Given the description of an element on the screen output the (x, y) to click on. 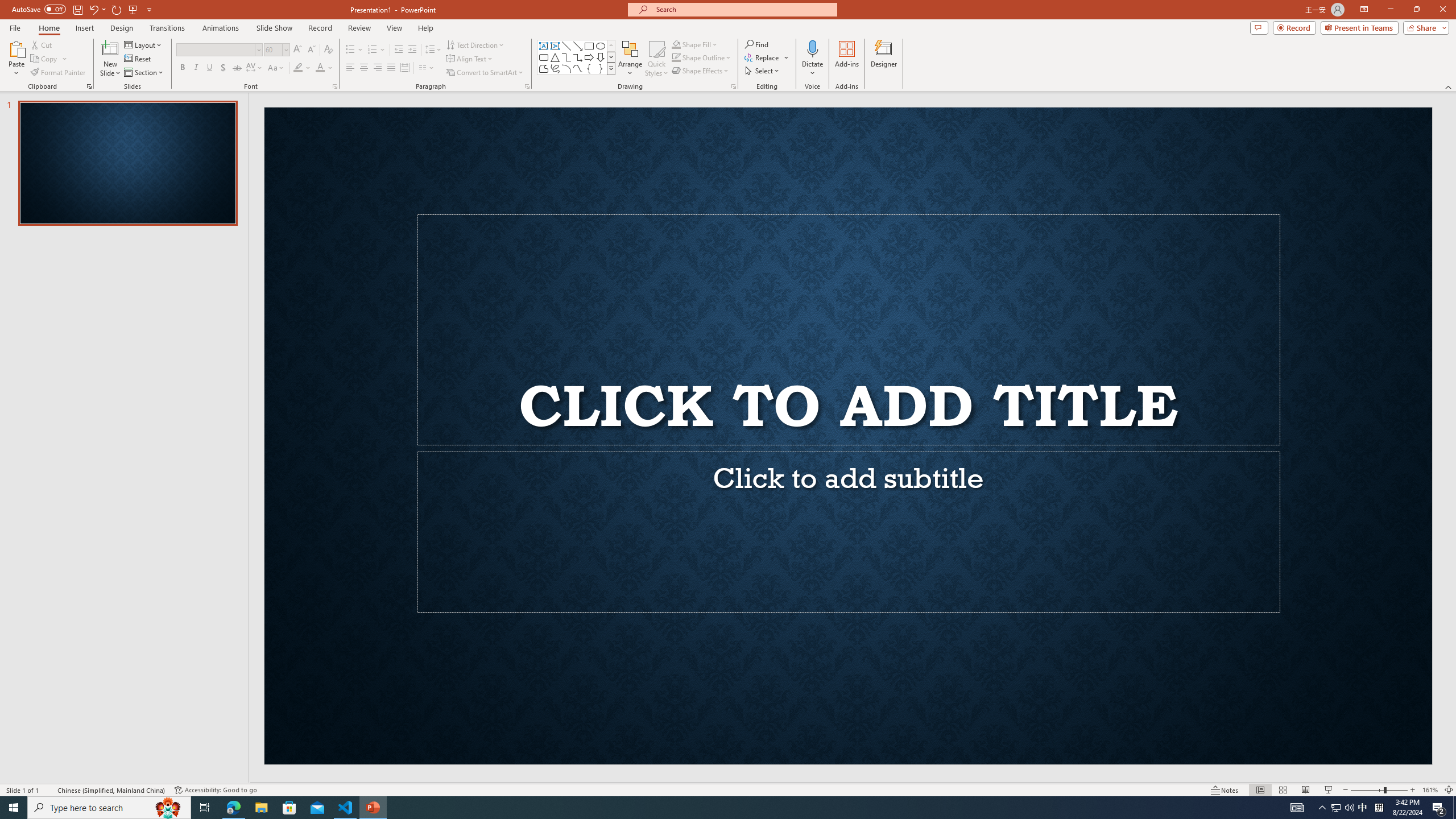
Subtitle TextBox (847, 531)
